Given the description of an element on the screen output the (x, y) to click on. 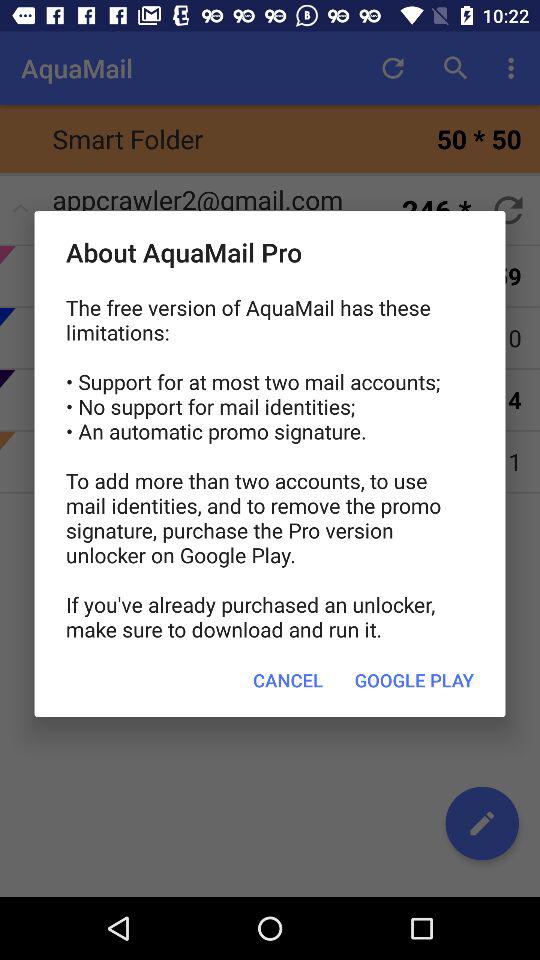
press button next to the cancel item (413, 679)
